Given the description of an element on the screen output the (x, y) to click on. 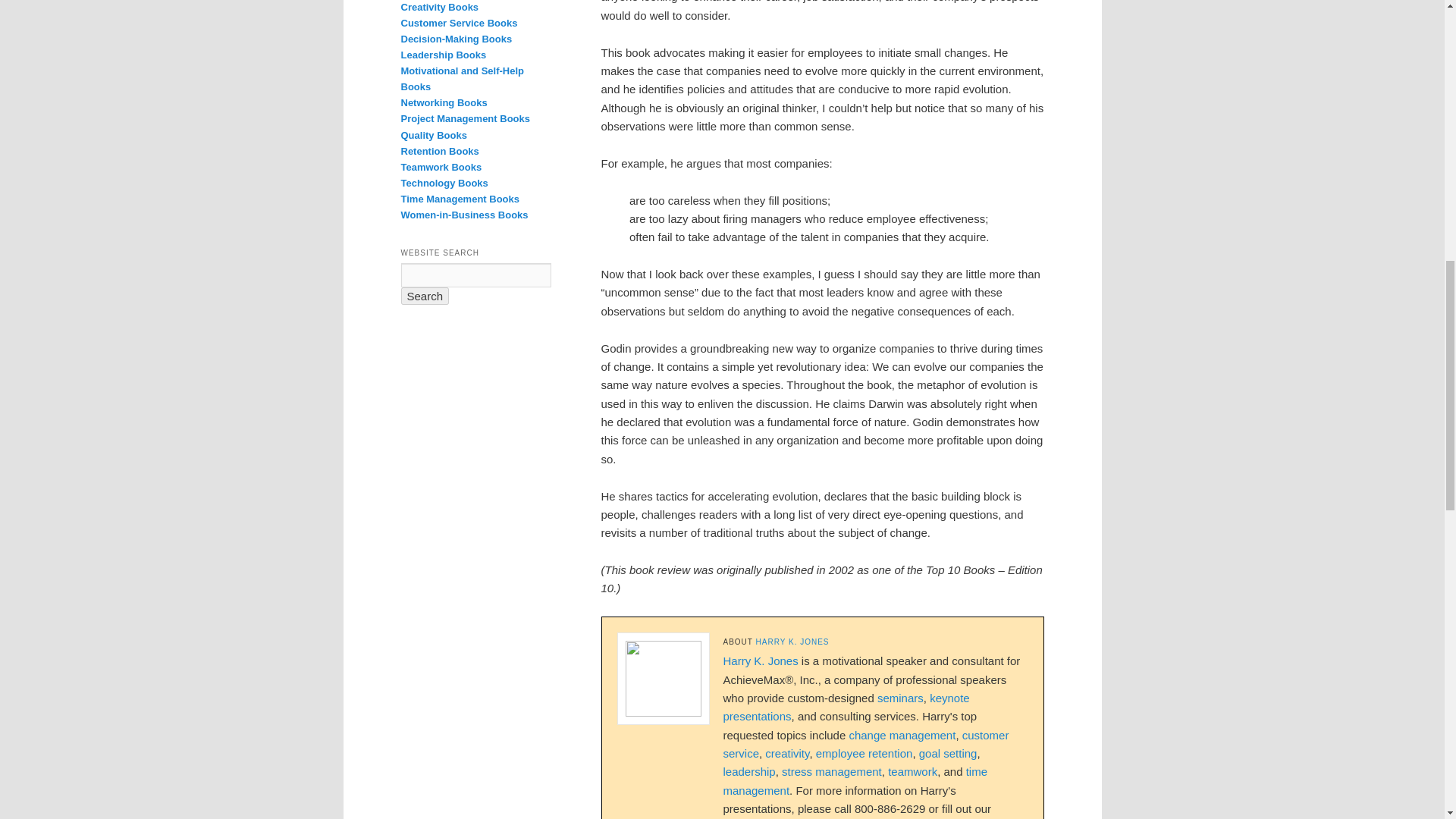
goal setting (947, 753)
Harry K. Jones (792, 642)
seminars (900, 697)
teamwork (912, 771)
employee retention (863, 753)
Search (424, 295)
Harry K. Jones (760, 660)
creativity (787, 753)
stress management (831, 771)
change management (901, 735)
